Given the description of an element on the screen output the (x, y) to click on. 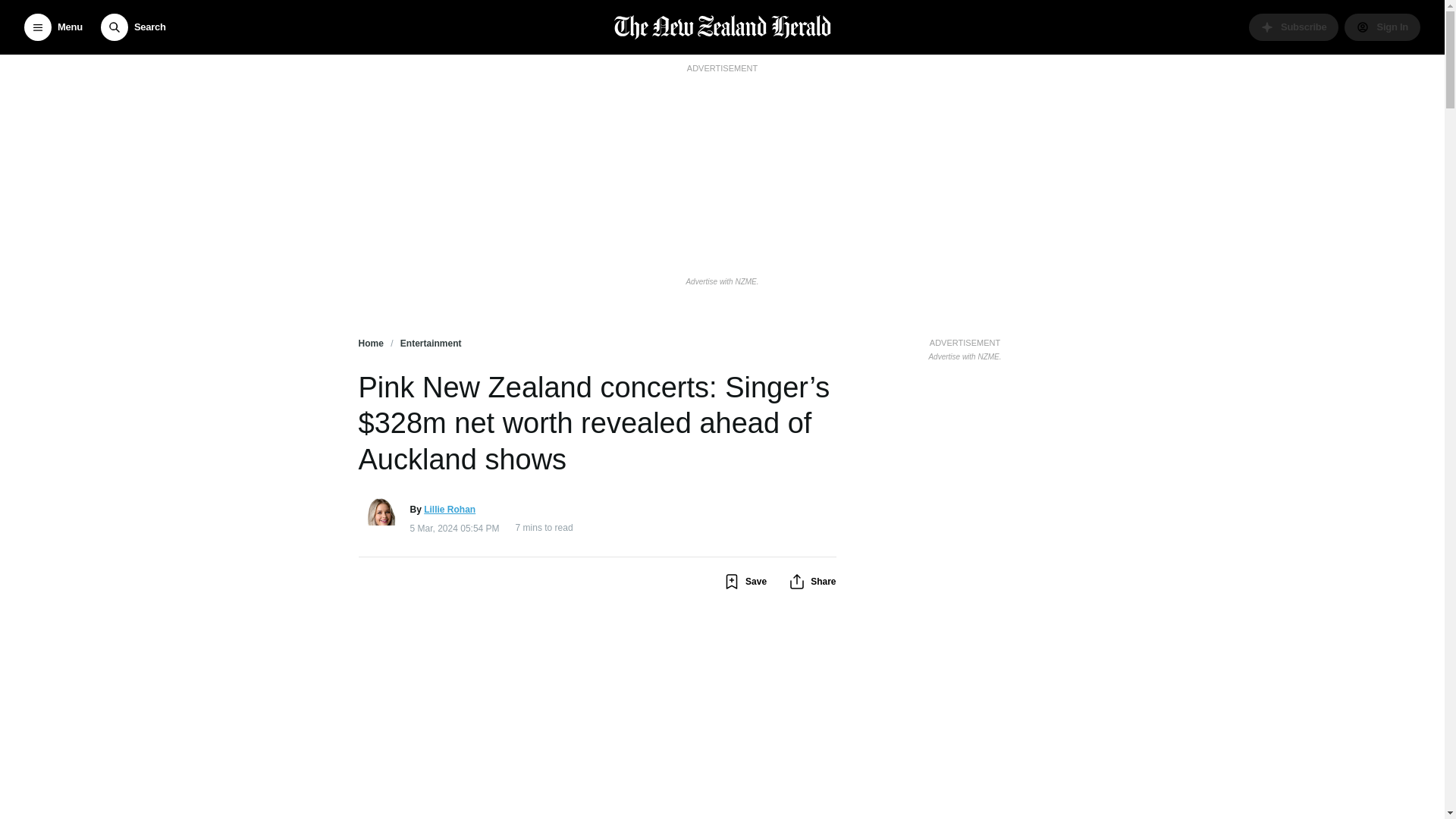
Search (132, 26)
Subscribe (1294, 26)
Menu (53, 26)
Manage your account (1382, 26)
Sign In (1382, 26)
